Given the description of an element on the screen output the (x, y) to click on. 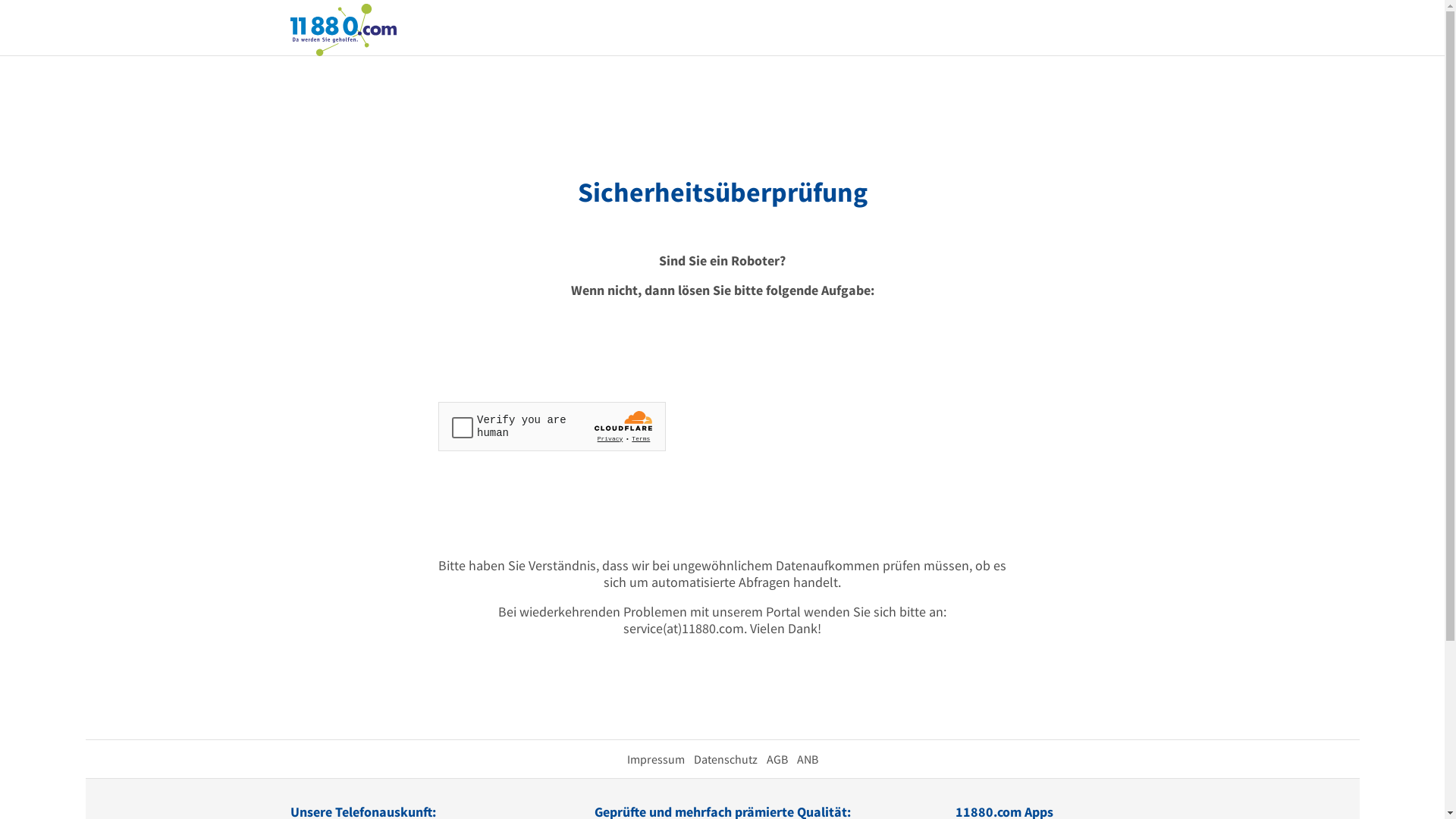
11880.com Element type: hover (342, 28)
Datenschutz Element type: text (724, 758)
ANB Element type: text (806, 758)
Impressum Element type: text (655, 758)
Widget containing a Cloudflare security challenge Element type: hover (551, 426)
AGB Element type: text (776, 758)
